Given the description of an element on the screen output the (x, y) to click on. 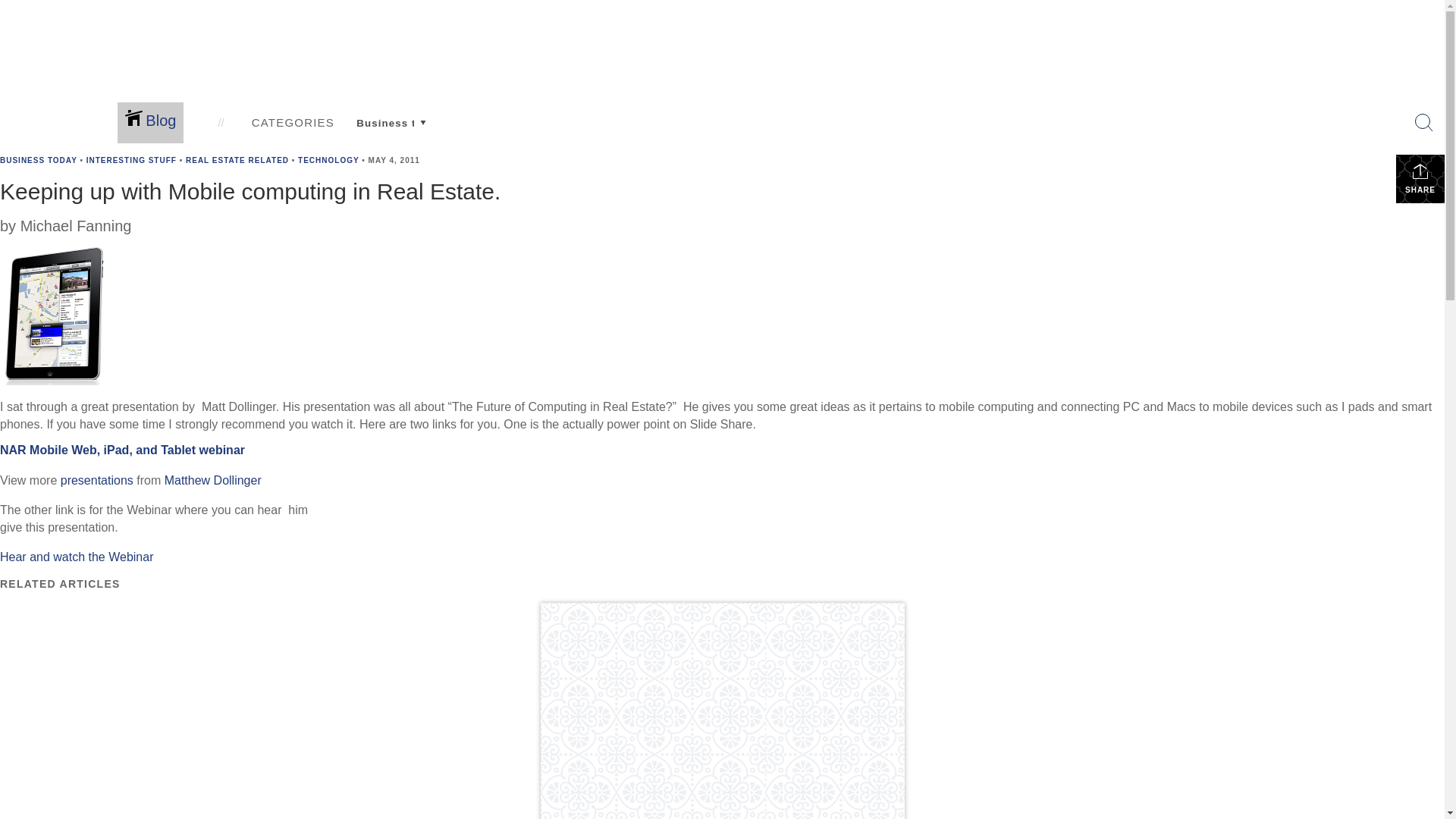
Great Collection Youtube and Ted talk vi (879, 171)
Windermere Ninja (818, 197)
USA Data (491, 222)
FhFa. Gov Data Tools (523, 235)
Ninja Book list (810, 132)
Video's From Ninja. (823, 158)
NAR Mobile Web, iPad, and Tablet webinar  (122, 449)
Ninja Selling (804, 235)
Suggested Podcasts (826, 145)
Ask a Coach Podcast (177, 222)
Mondays with Matthew (683, 239)
Windermere Ninja Resources. (850, 75)
Pew Research Center (523, 210)
Ninja Seller resources. (832, 210)
Ninja Buyer Resources (832, 222)
